Given the description of an element on the screen output the (x, y) to click on. 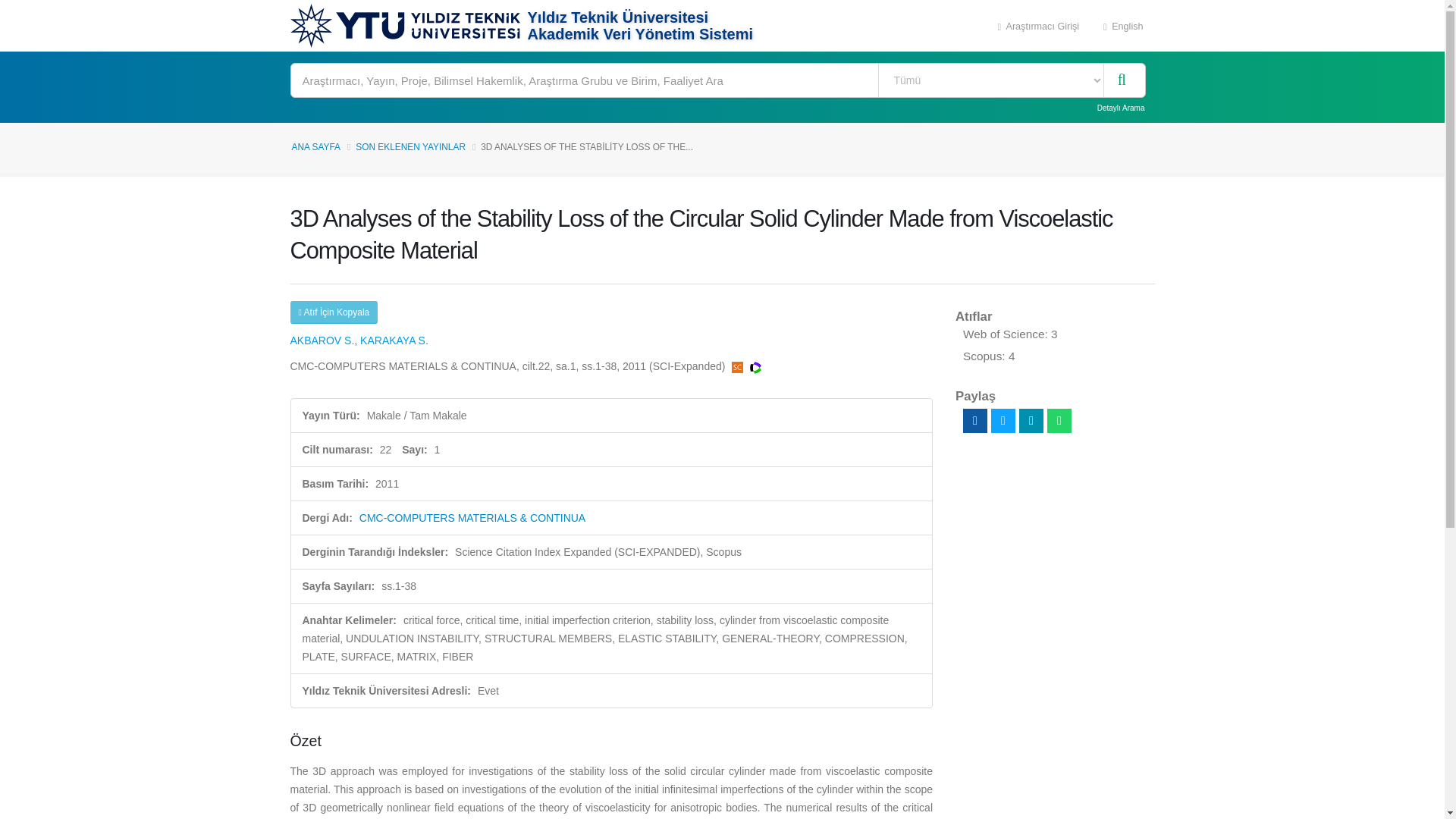
KARAKAYA S. (393, 340)
ANA SAYFA (315, 146)
English (1123, 26)
SON EKLENEN YAYINLAR (410, 146)
AKBAROV S. (321, 340)
